Given the description of an element on the screen output the (x, y) to click on. 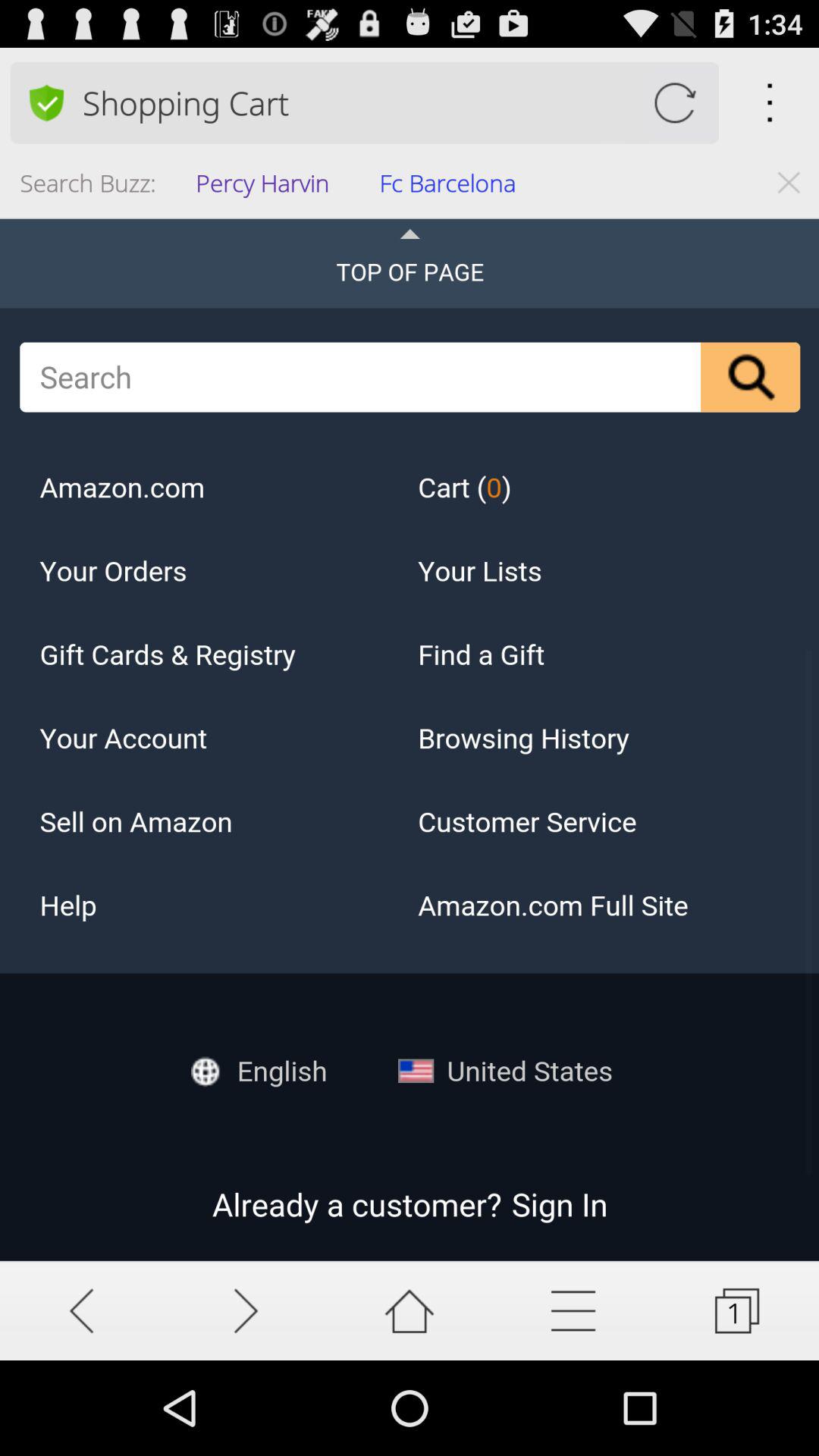
press app to the right of percy harvin icon (452, 187)
